Given the description of an element on the screen output the (x, y) to click on. 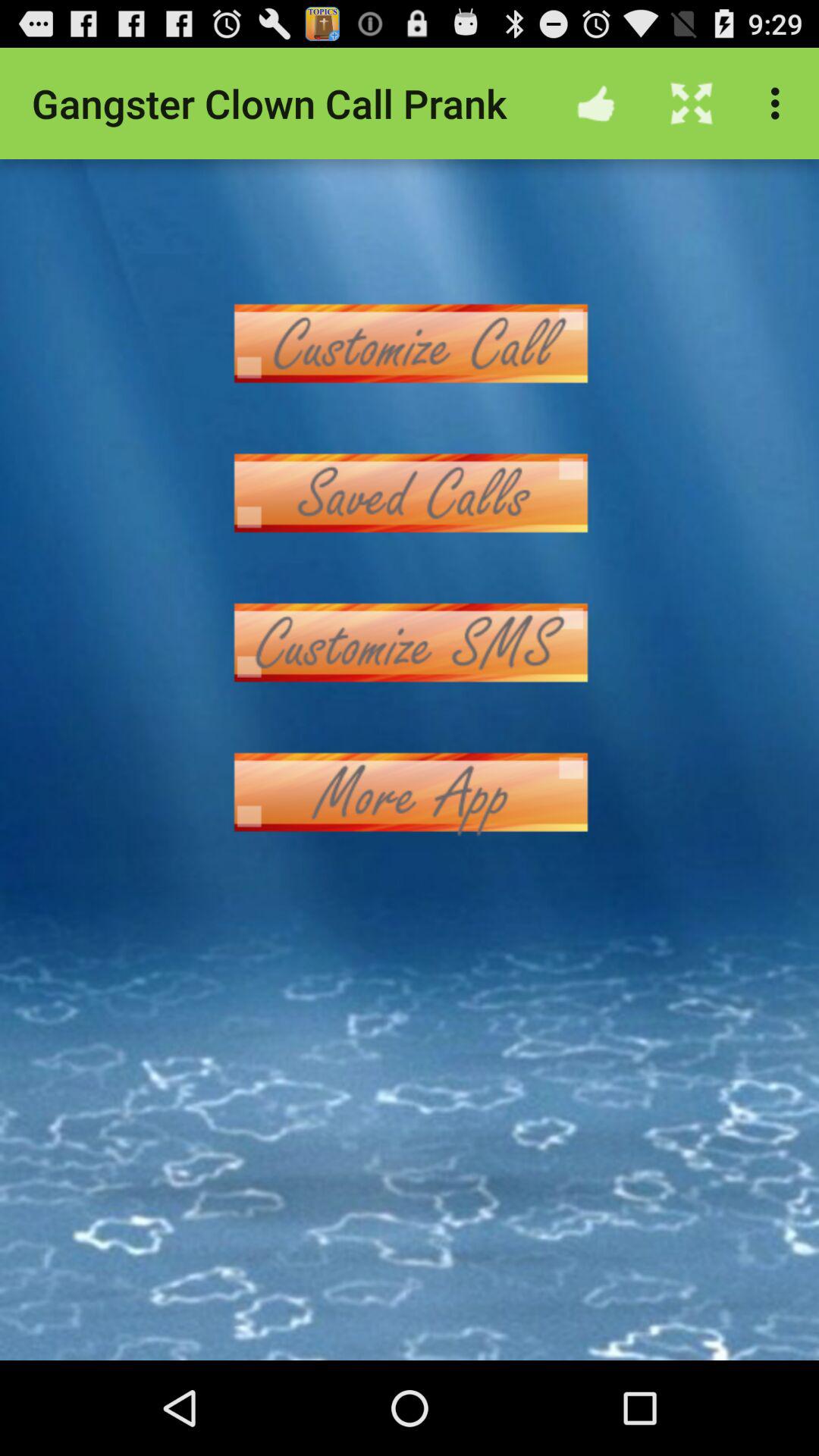
go to saved calls button (409, 492)
